Given the description of an element on the screen output the (x, y) to click on. 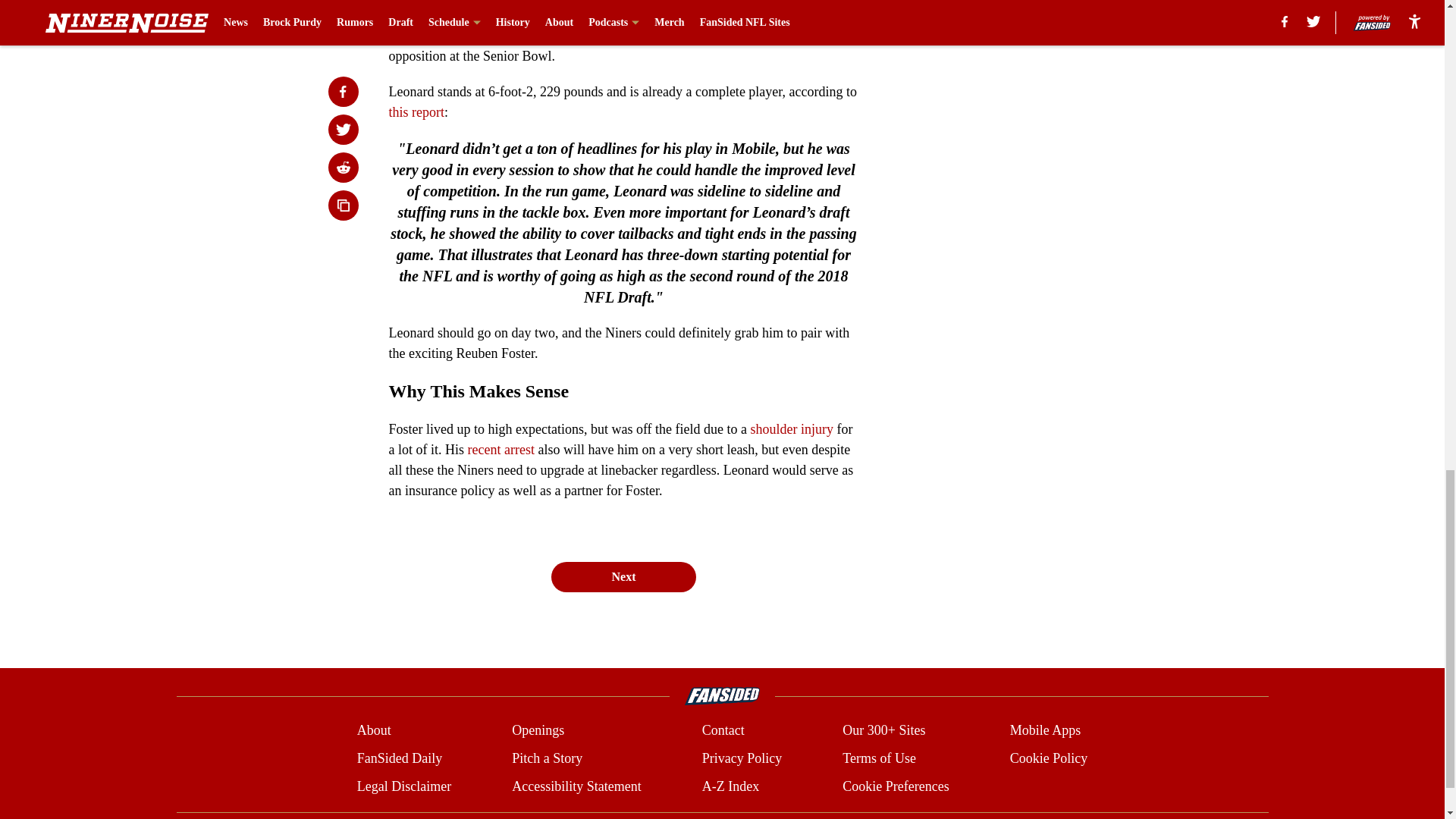
this report (416, 111)
FanSided Daily (399, 758)
Openings (538, 730)
lived up to it (704, 35)
recent arrest (500, 449)
Pitch a Story (547, 758)
Mobile Apps (1045, 730)
Next (622, 576)
shoulder injury (794, 428)
Contact (722, 730)
